Given the description of an element on the screen output the (x, y) to click on. 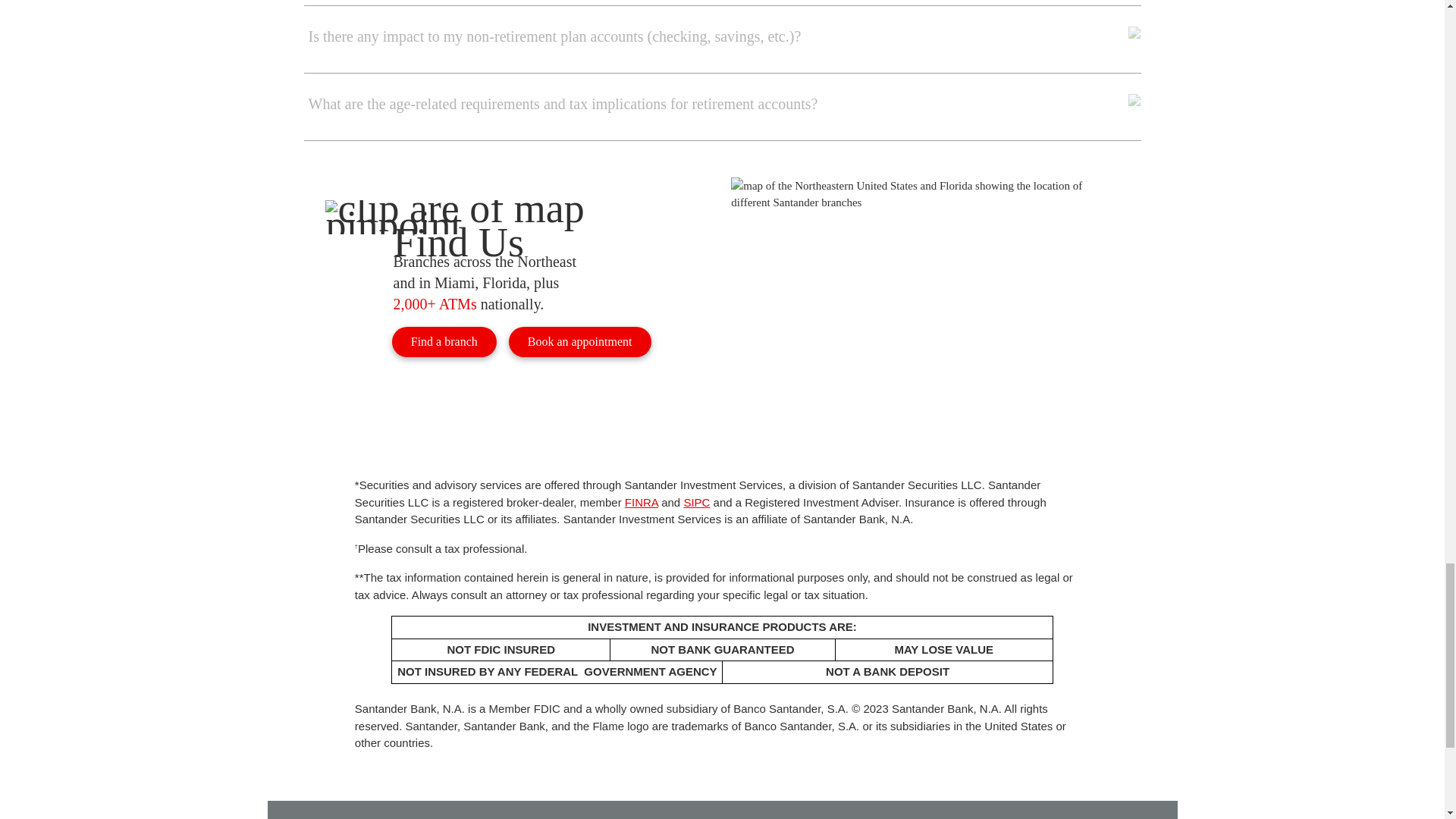
Book an appointment (579, 341)
SIPC (696, 502)
Find a branch (443, 341)
FINRA (641, 502)
